Given the description of an element on the screen output the (x, y) to click on. 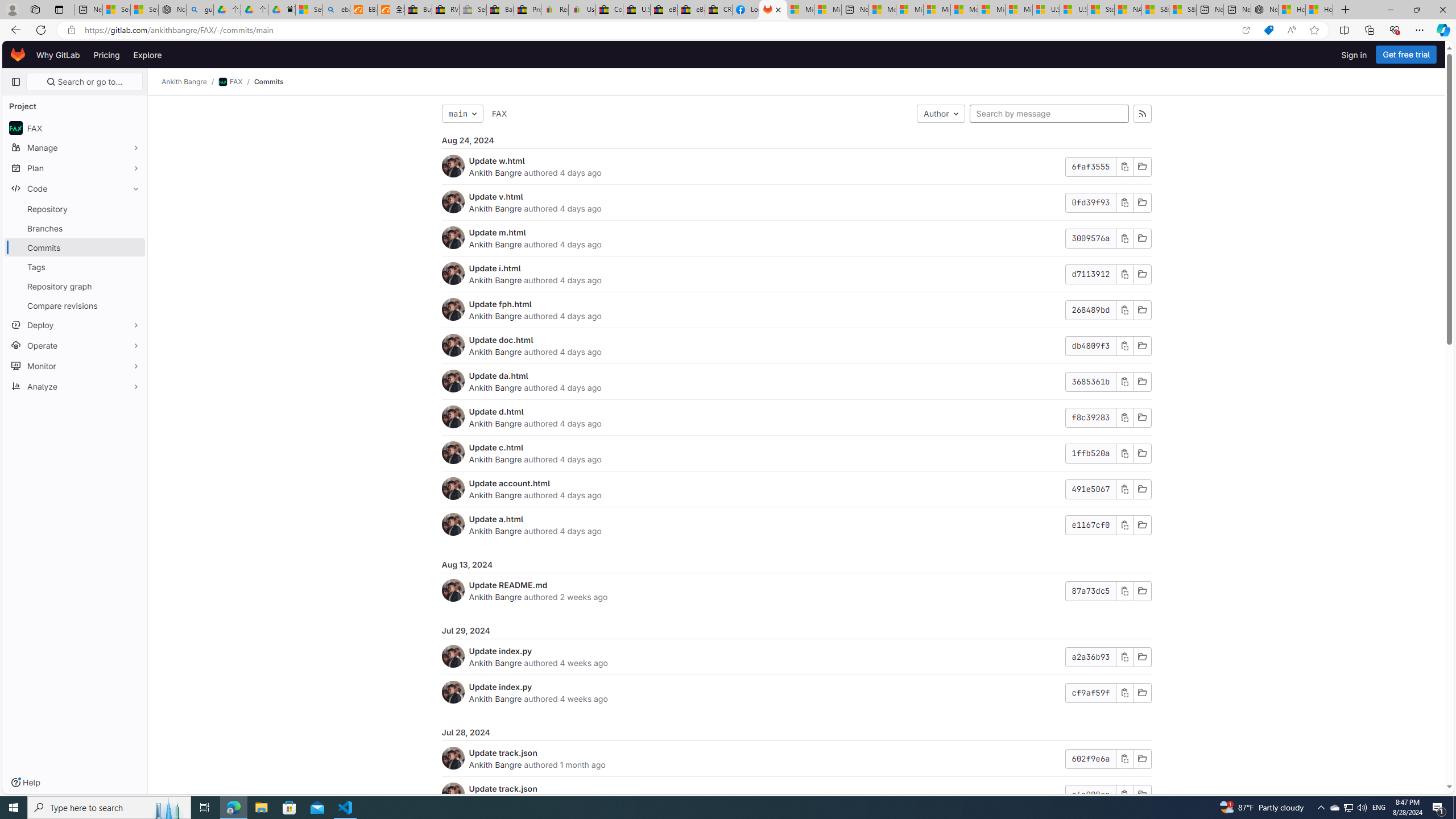
Update track.json (502, 788)
FAX (499, 112)
eBay Inc. Reports Third Quarter 2023 Results (691, 9)
Update index.pyAnkith Bangre authored 4 weeks agocf9af59f (796, 692)
Repository graph (74, 285)
Update track.jsonAnkith Bangre authored 1 month ago602f9e6a (796, 759)
Aug 13, 2024 (796, 564)
Update da.html (498, 375)
Tags (74, 266)
Browse Files (1141, 794)
Update fph.htmlAnkith Bangre authored 4 days ago268489bd (796, 310)
Address and search bar (658, 29)
